Given the description of an element on the screen output the (x, y) to click on. 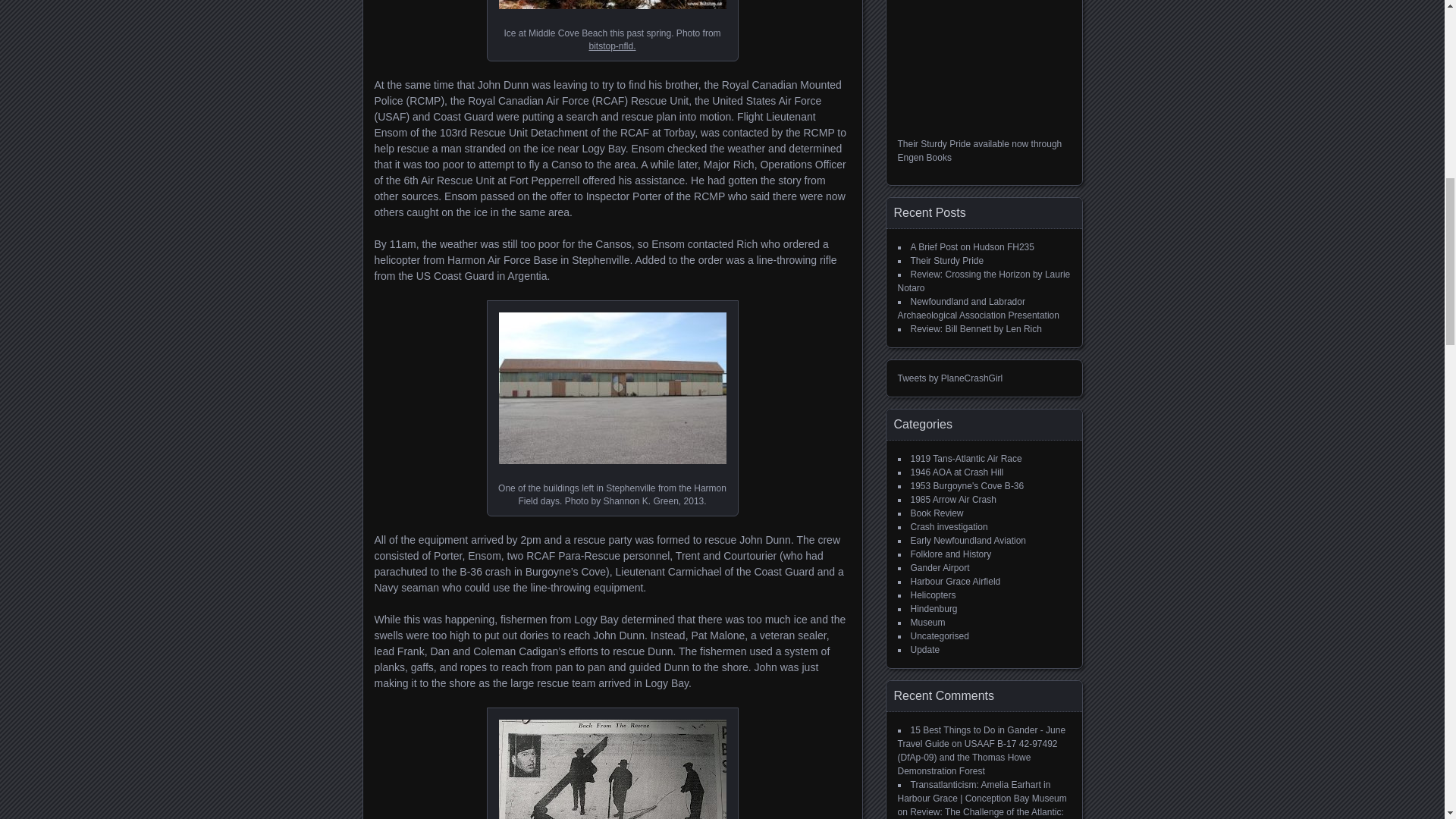
A Brief Post on Hudson FH235 (971, 246)
bitstop-nfld. (611, 45)
Their Sturdy Pride (947, 260)
